Given the description of an element on the screen output the (x, y) to click on. 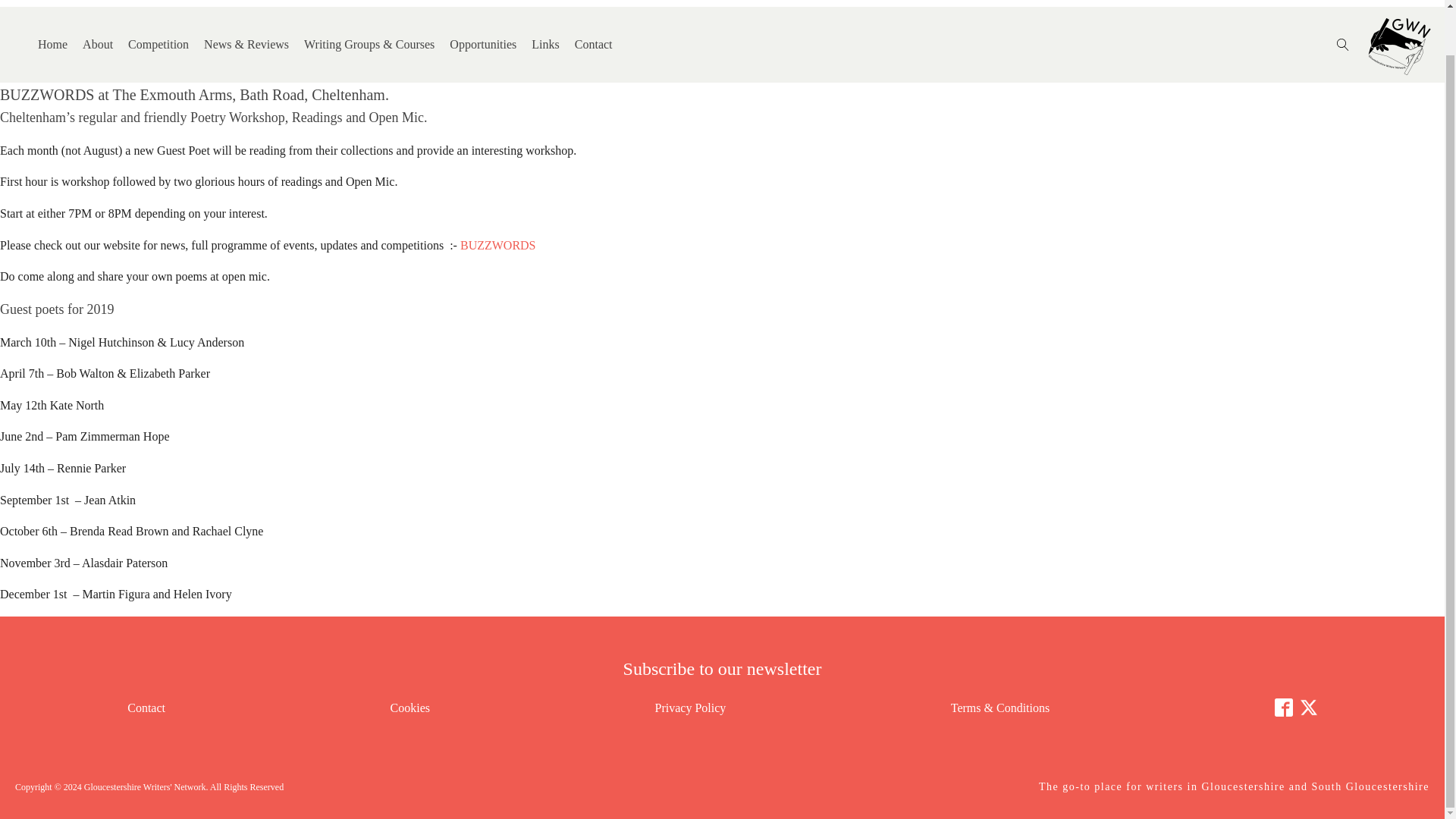
Competition (158, 45)
Cookies (409, 708)
BUZZWORDS (497, 245)
About (97, 45)
Links (545, 45)
Opportunities (482, 45)
Contact (146, 708)
Home (51, 45)
Contact (593, 45)
Privacy Policy (690, 708)
